Given the description of an element on the screen output the (x, y) to click on. 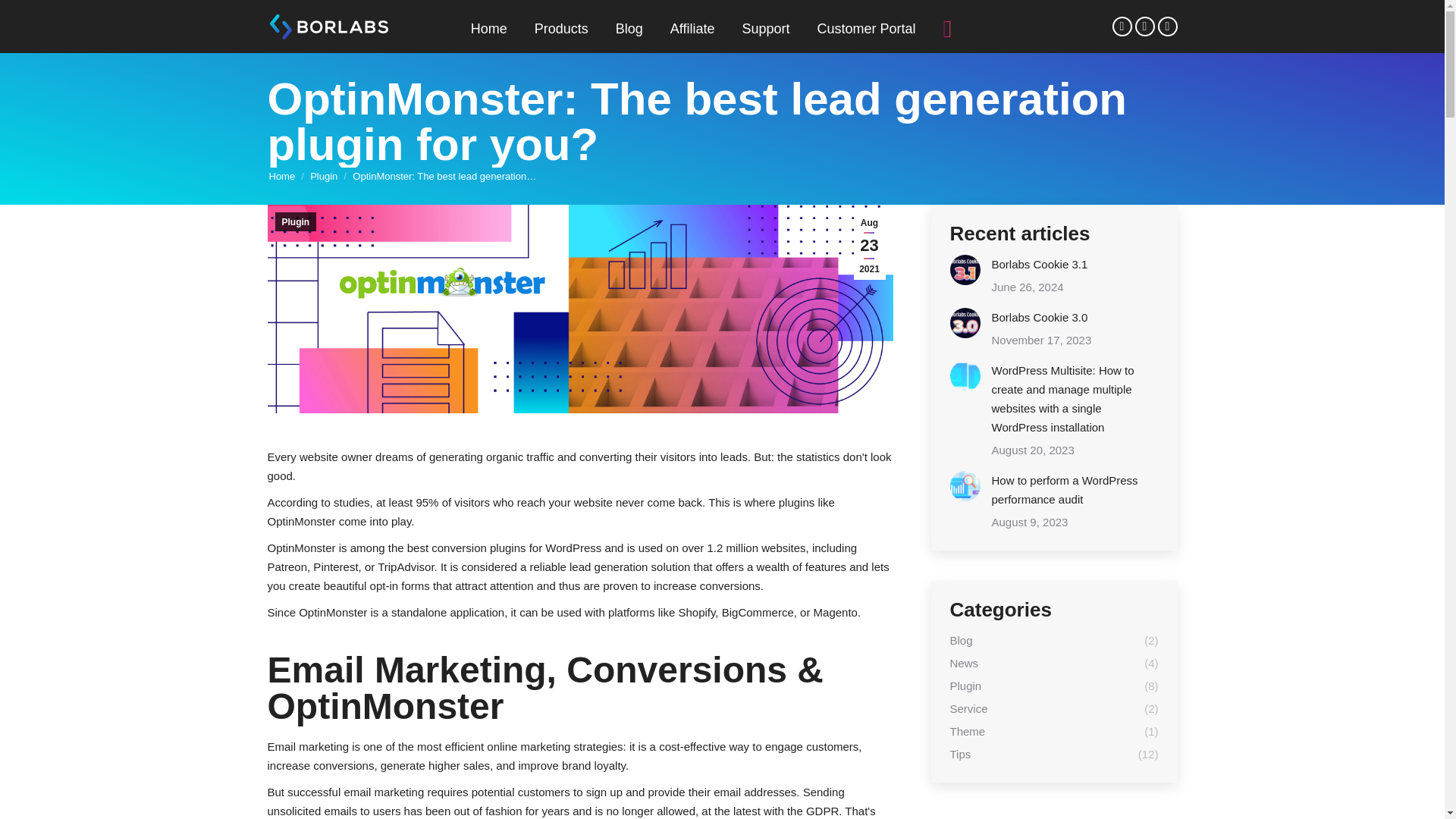
Support (765, 28)
Blog (629, 28)
Affiliate (691, 28)
YouTube page opens in new window (1166, 26)
Facebook page opens in new window (1121, 26)
Products (561, 28)
Home (281, 175)
Facebook page opens in new window (1121, 26)
Plugin (323, 175)
Home (489, 28)
optin-monster-borlabs (579, 308)
Customer Portal (865, 28)
Customer Portal (865, 28)
X page opens in new window (1144, 26)
X page opens in new window (1144, 26)
